Given the description of an element on the screen output the (x, y) to click on. 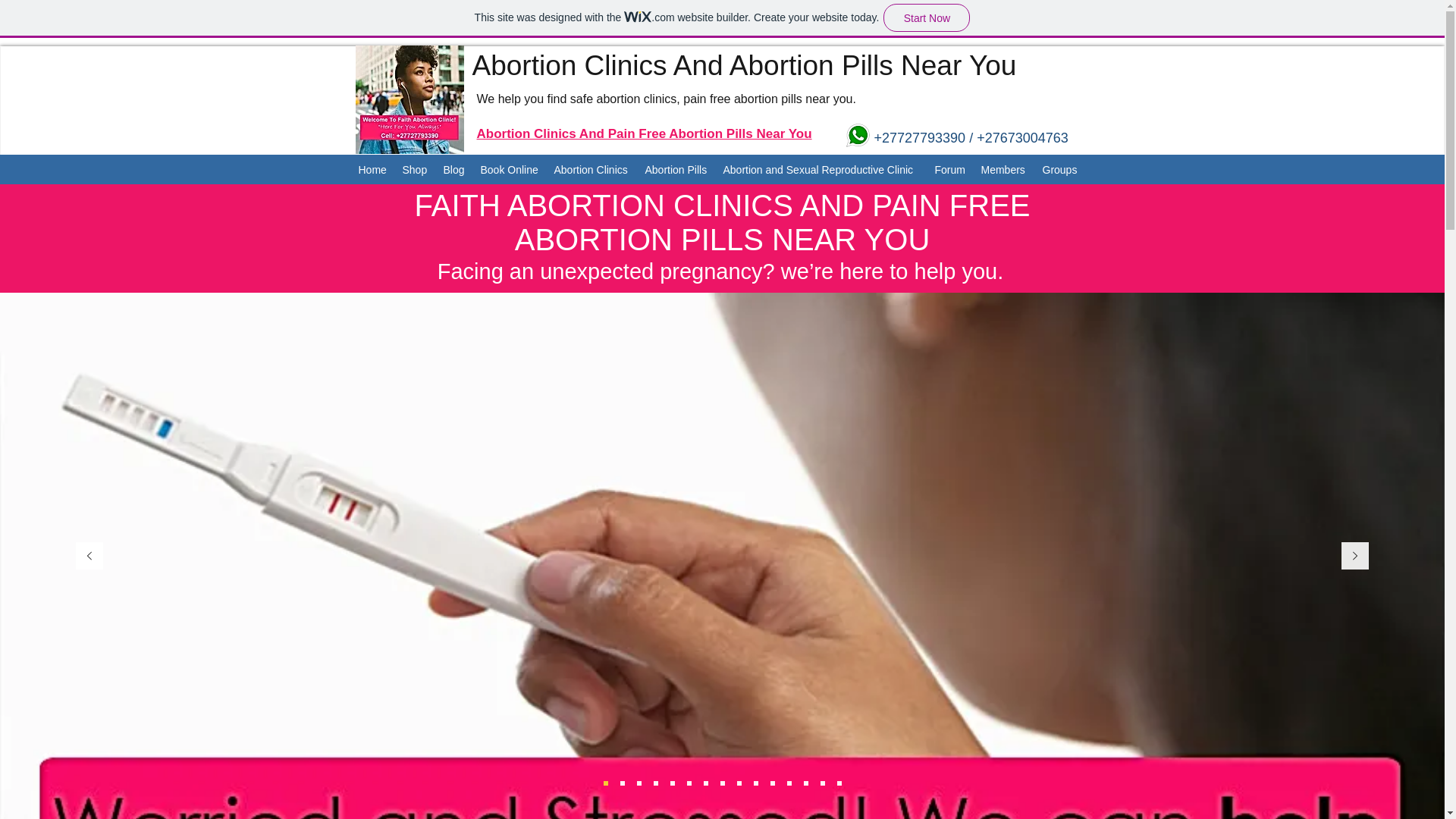
Abortion Clinics (591, 169)
Book Online (510, 169)
Blog (453, 169)
Home (372, 169)
Abortion Pills in Johannesburg (857, 135)
Shop (414, 169)
